Given the description of an element on the screen output the (x, y) to click on. 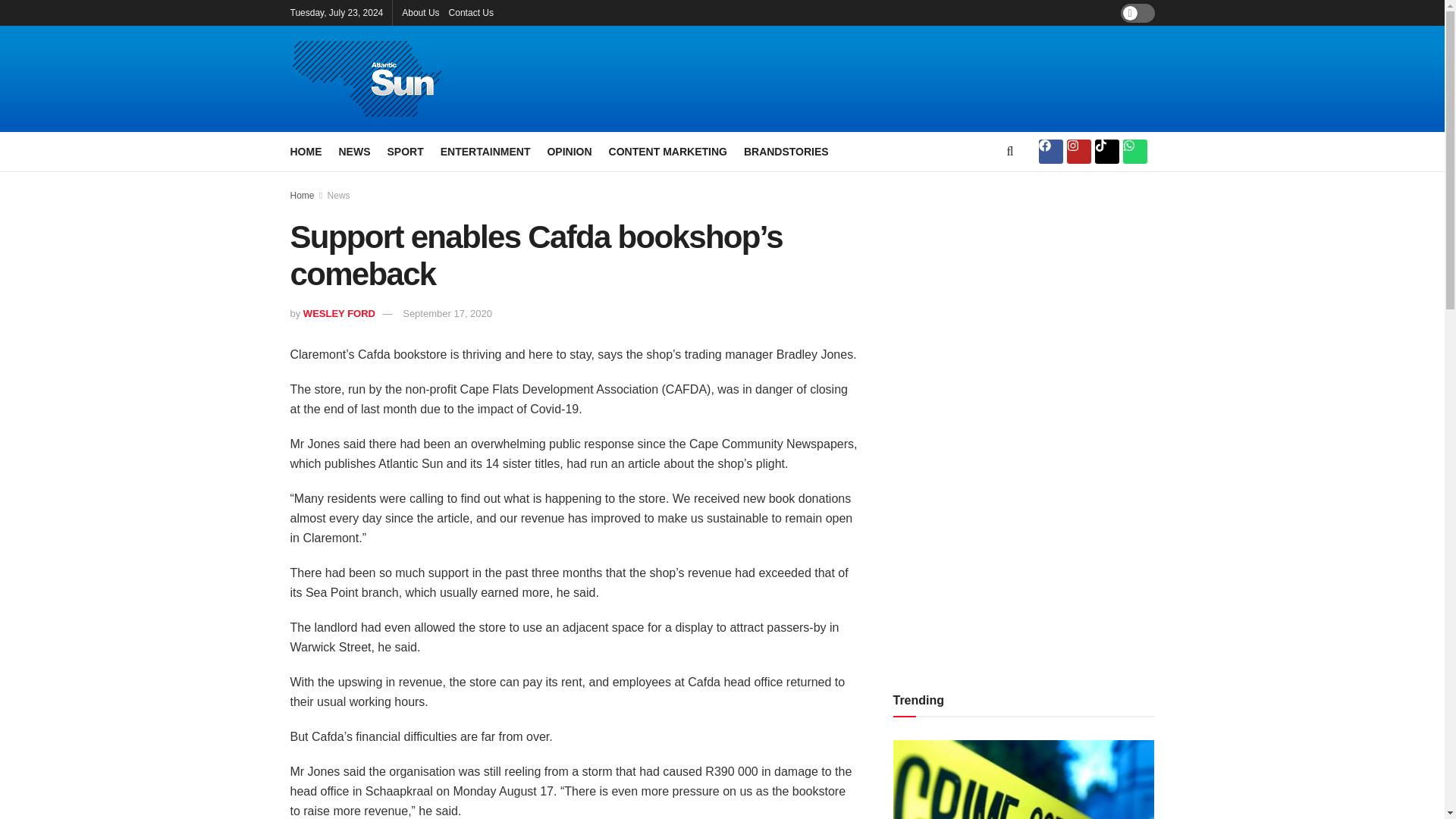
Home (301, 195)
WESLEY FORD (338, 313)
News (338, 195)
HOME (305, 151)
SPORT (405, 151)
NEWS (353, 151)
September 17, 2020 (447, 313)
Contact Us (470, 12)
CONTENT MARKETING (667, 151)
BRANDSTORIES (786, 151)
ENTERTAINMENT (486, 151)
About Us (420, 12)
3rd party ad content (888, 79)
OPINION (569, 151)
